Given the description of an element on the screen output the (x, y) to click on. 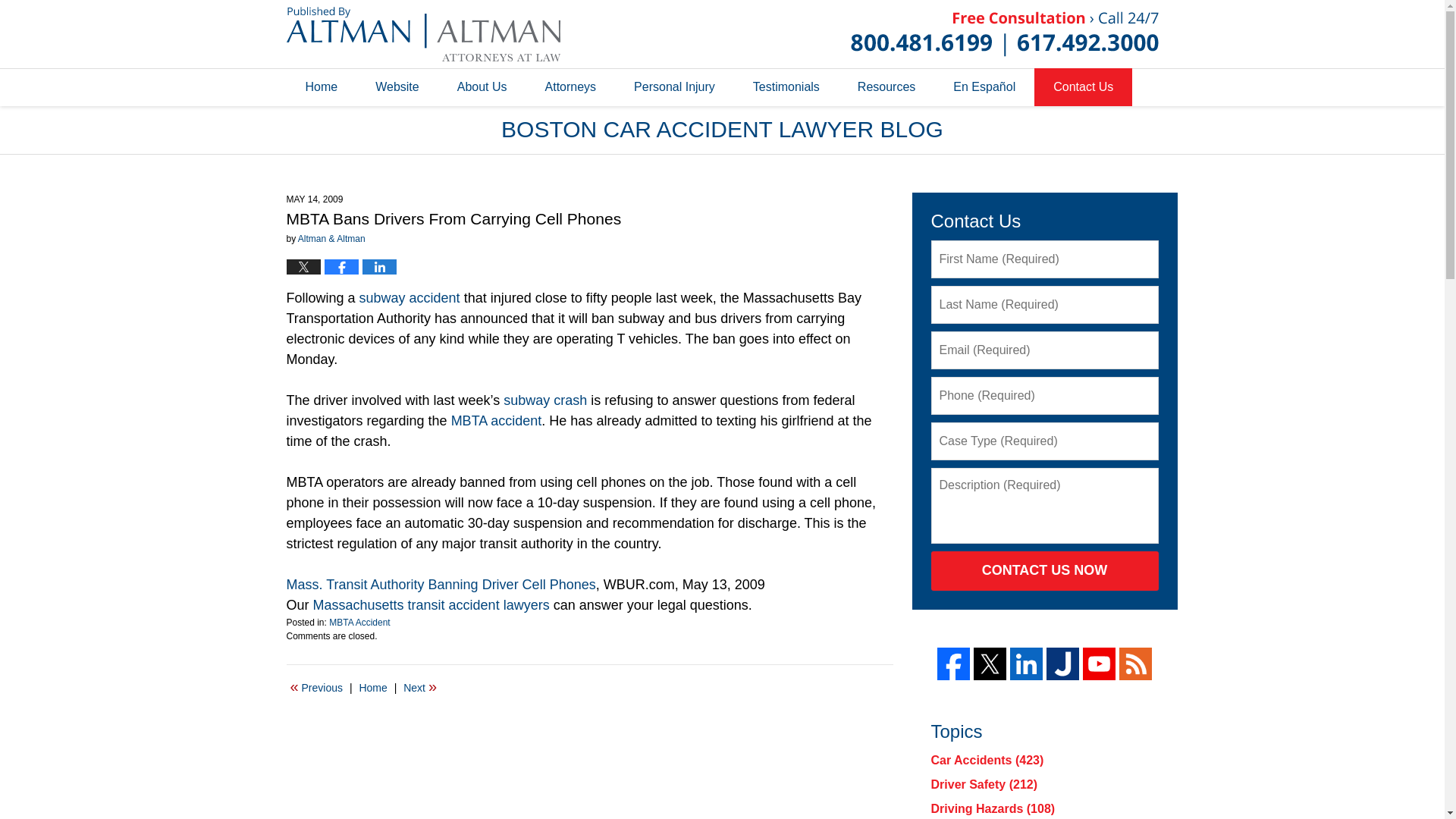
Feed (1135, 663)
LinkedIn (1026, 663)
Justia (1062, 663)
Saugus Teen Pleads Not Guilty After Post-Prom Car Crash (419, 687)
Resources (886, 86)
Massachusetts transit accident lawyers (431, 604)
Facebook (953, 663)
Attorneys (570, 86)
Home (372, 687)
subway accident (409, 297)
Twitter (990, 663)
CONTACT US NOW (1044, 570)
MBTA accident (496, 420)
subway crash (544, 400)
Personal Injury (673, 86)
